Given the description of an element on the screen output the (x, y) to click on. 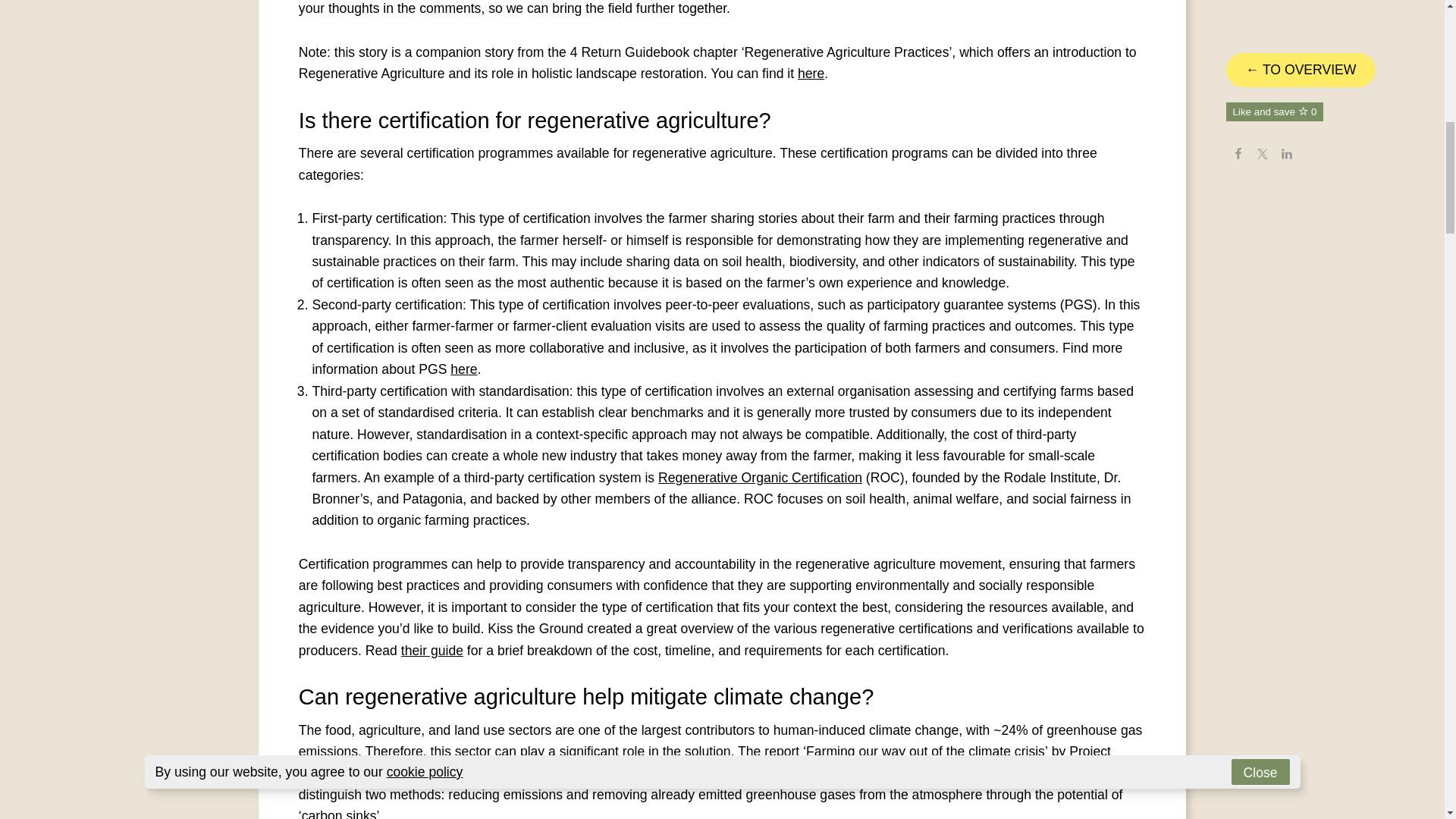
their guide (432, 650)
Share on Twitter (1262, 10)
here (463, 368)
Regenerative Organic Certification (759, 477)
here (810, 73)
Share on LinkedIn (1286, 10)
Share on Facebook (1237, 10)
